Given the description of an element on the screen output the (x, y) to click on. 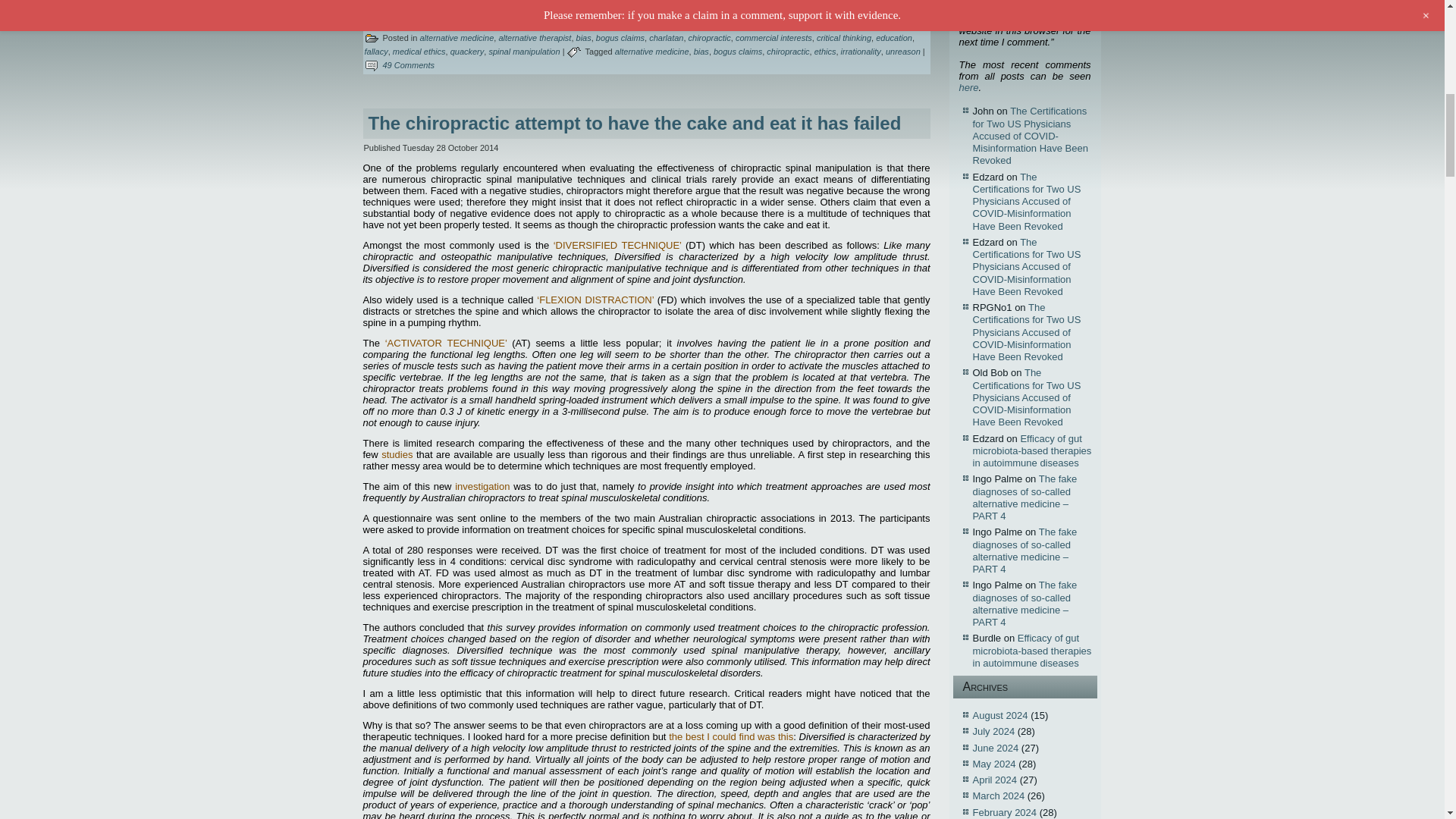
Click to share on Pinterest (525, 3)
spinal manipulation (523, 51)
commercial interests (773, 37)
fallacy (375, 51)
bias (701, 51)
chiropractic (709, 37)
Click to share on Reddit (464, 3)
Click to share on Tumblr (495, 3)
bogus claims (737, 51)
bias (583, 37)
